Given the description of an element on the screen output the (x, y) to click on. 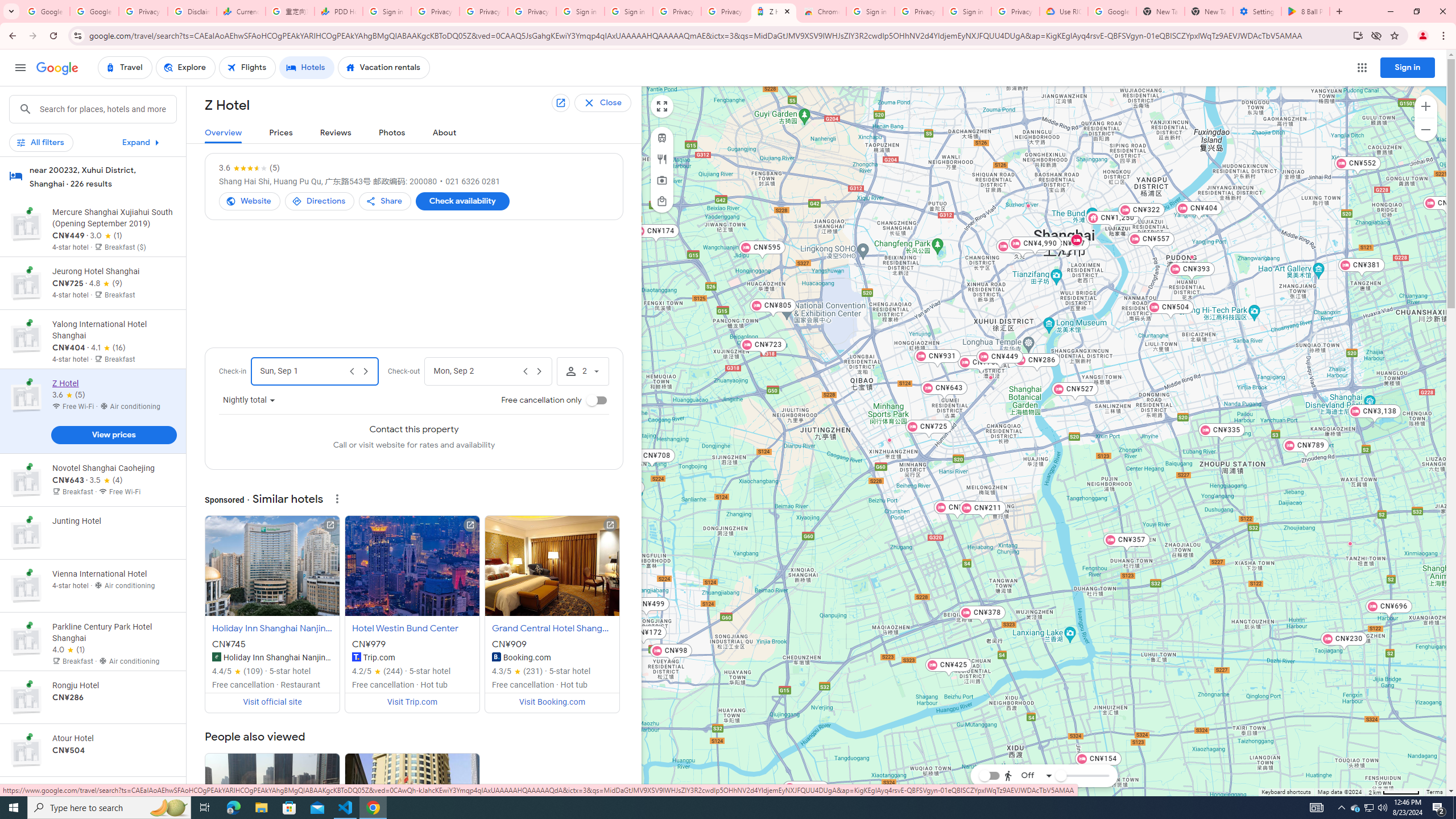
Zoom in map (1425, 106)
Hanting Premium Hotel Shanghai Xinzhuang Business (888, 439)
Venus International Hotel Shanghai South Shenjiang Road (1349, 543)
Check availability (461, 201)
Privacy Checkup (483, 11)
Privacy Checkup (532, 11)
Sign in - Google Accounts (870, 11)
Share (384, 201)
